Given the description of an element on the screen output the (x, y) to click on. 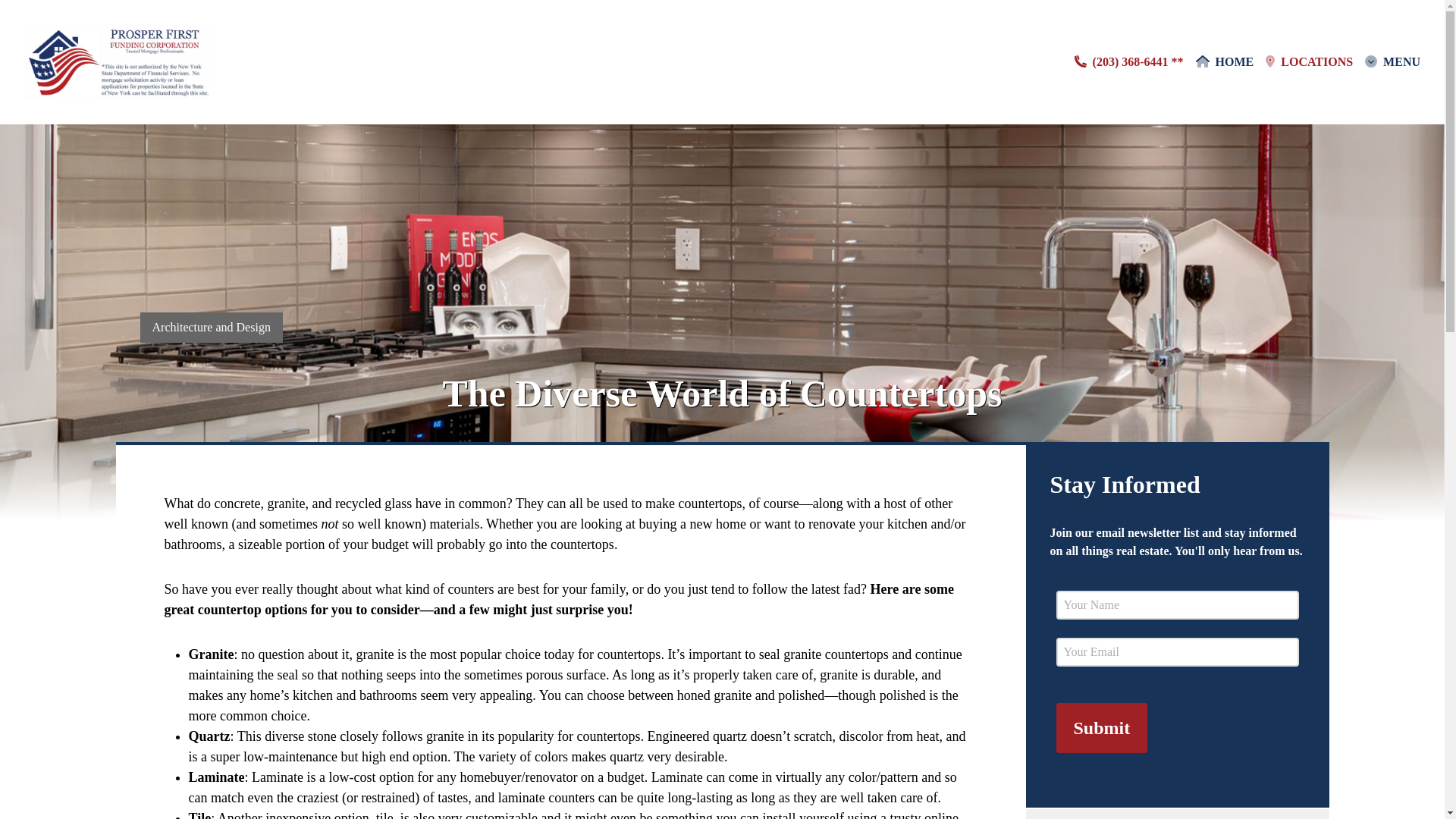
LOCATIONS (1308, 61)
Submit (1101, 726)
Submit (1101, 726)
MENU (1393, 61)
HOME (1224, 61)
Architecture and Design (210, 327)
